Given the description of an element on the screen output the (x, y) to click on. 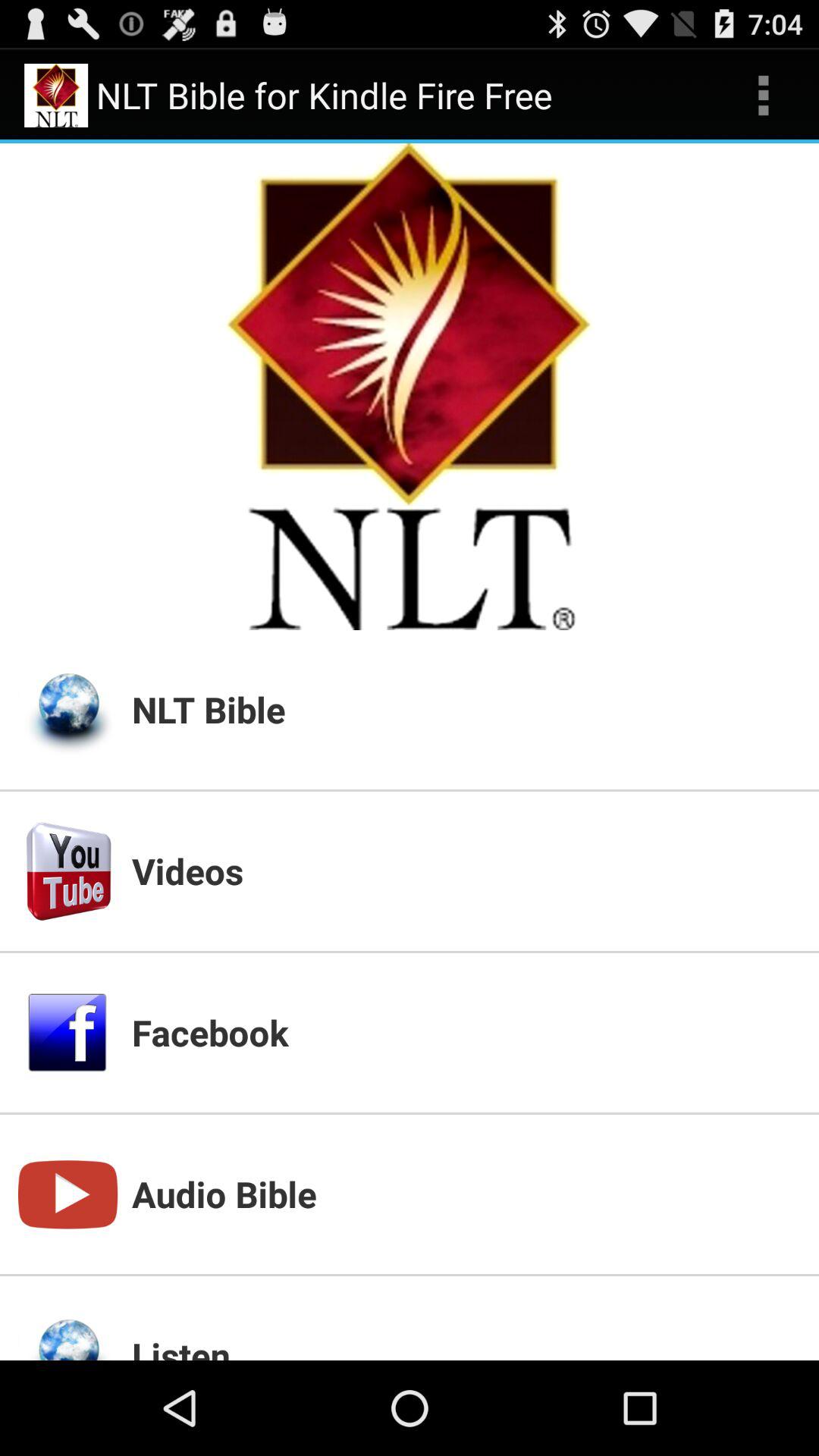
click the listen icon (465, 1345)
